Given the description of an element on the screen output the (x, y) to click on. 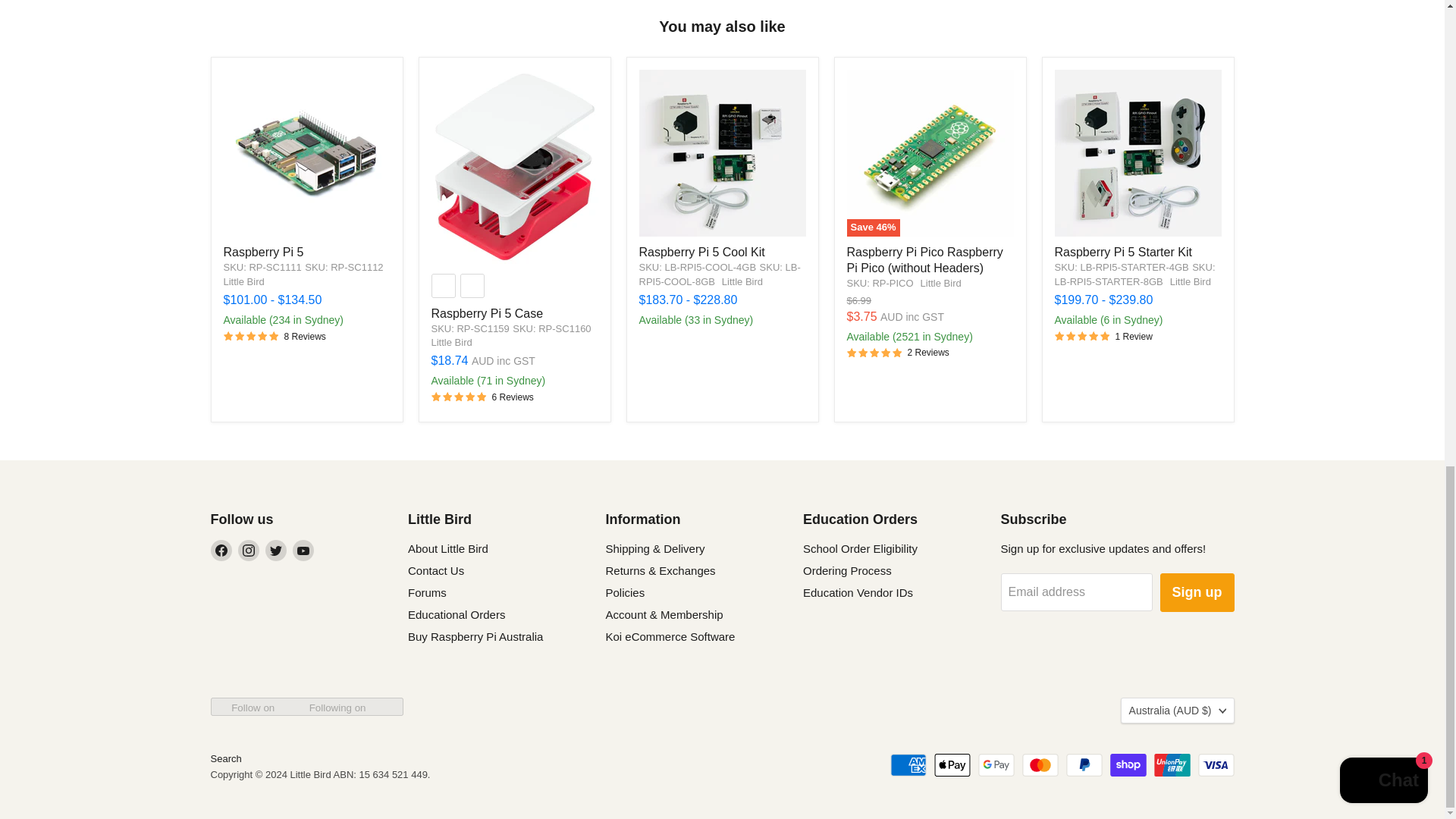
Little Bird (742, 281)
Facebook (221, 550)
Little Bird (242, 281)
Little Bird (1190, 281)
Little Bird (450, 342)
Instagram (248, 550)
Twitter (275, 550)
YouTube (303, 550)
Little Bird (940, 283)
